Given the description of an element on the screen output the (x, y) to click on. 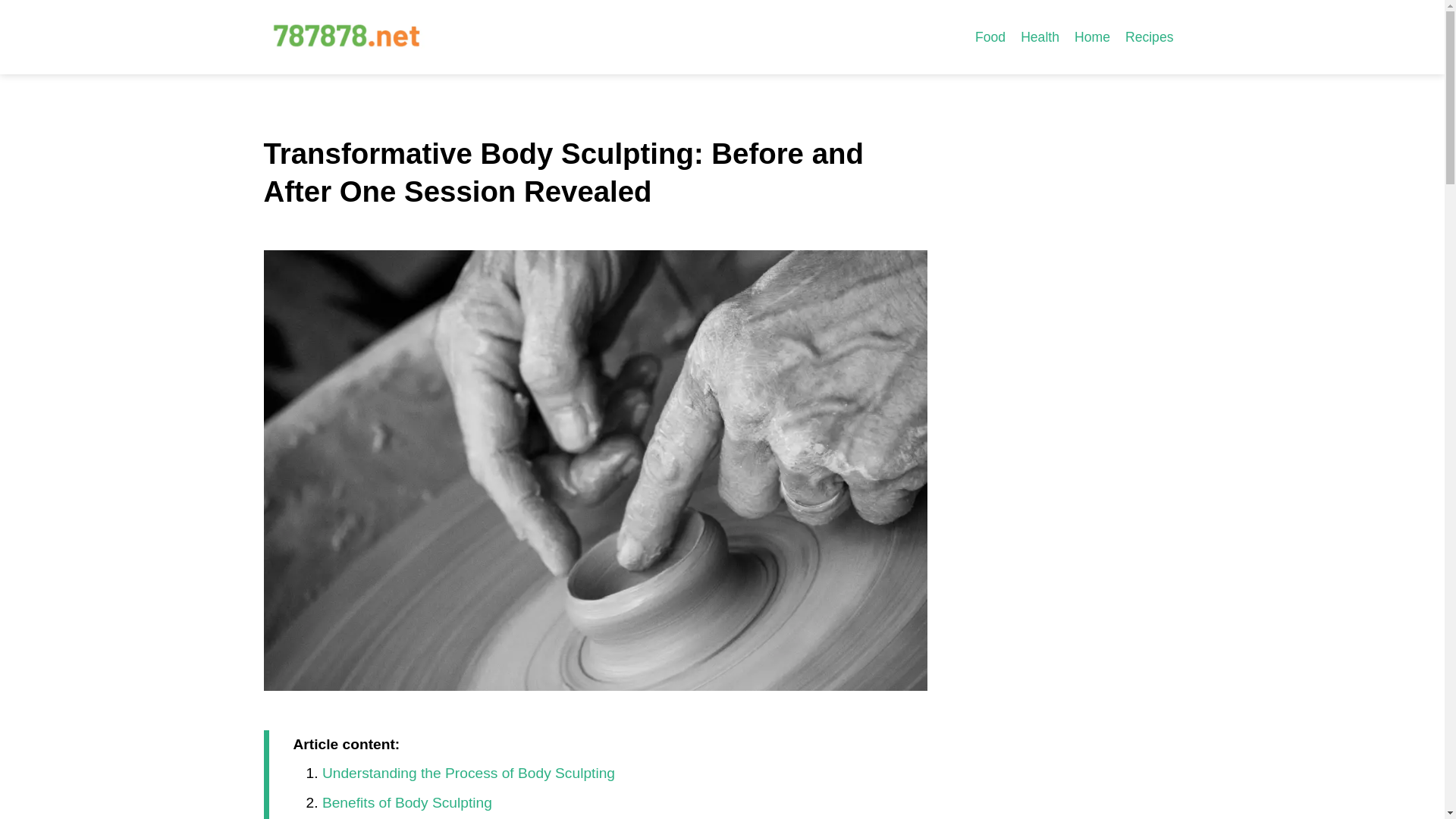
Recipes (1149, 36)
Food (990, 36)
Benefits of Body Sculpting (406, 802)
Understanding the Process of Body Sculpting (467, 772)
Home (1092, 36)
Health (1040, 36)
